Given the description of an element on the screen output the (x, y) to click on. 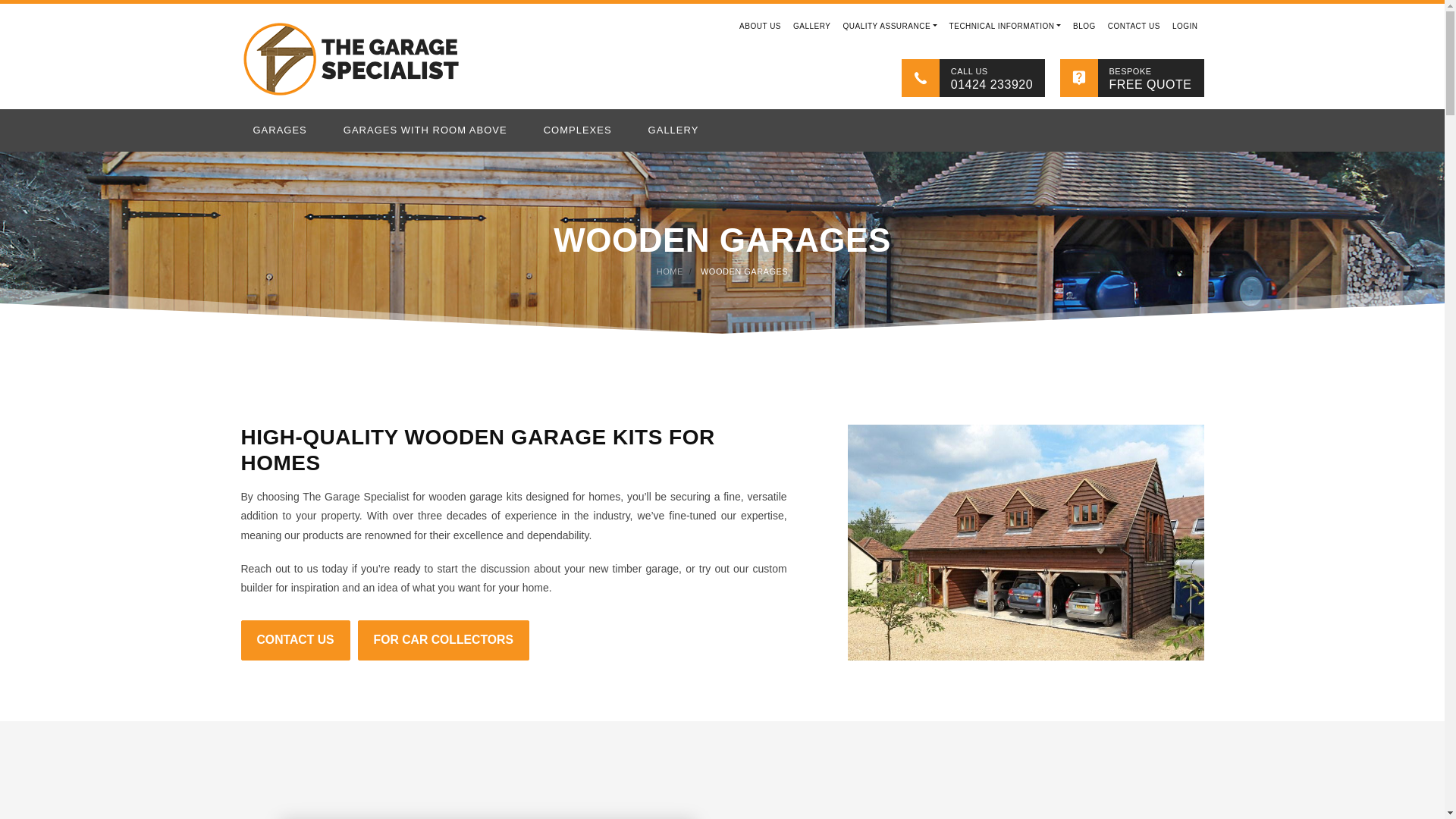
GARAGES (286, 129)
CONTACT US (1134, 26)
BLOG (1084, 26)
Gallery (811, 26)
COMPLEXES (583, 129)
LOGIN (1185, 26)
GARAGES WITH ROOM ABOVE (431, 129)
ABOUT US (760, 26)
HOME (721, 25)
QUALITY ASSURANCE (888, 26)
TECHNICAL INFORMATION (1005, 26)
GALLERY (811, 26)
Quality Assurance (888, 26)
Home (721, 25)
Technical Information (1005, 26)
